Given the description of an element on the screen output the (x, y) to click on. 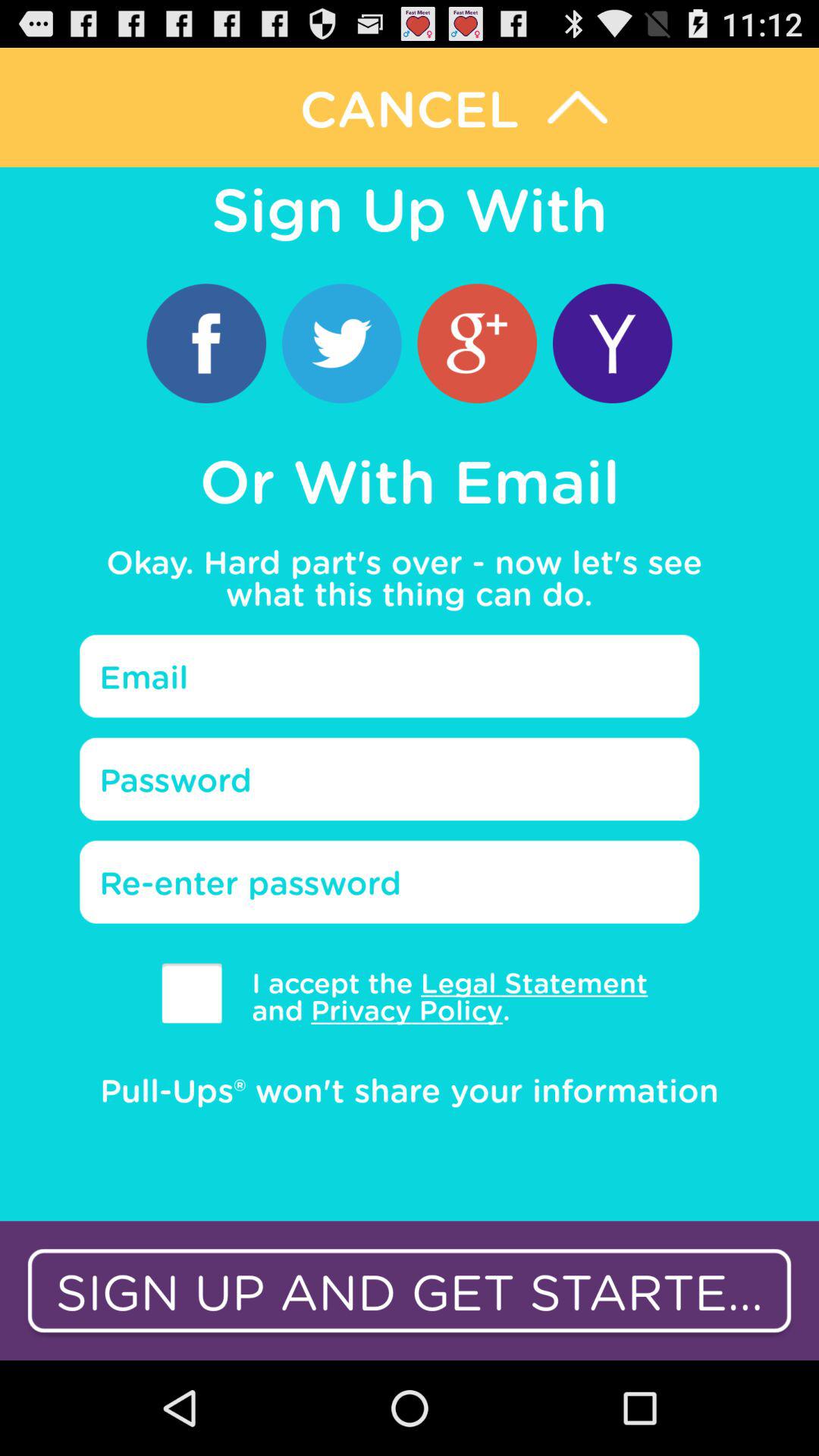
login with yahoo (612, 343)
